Given the description of an element on the screen output the (x, y) to click on. 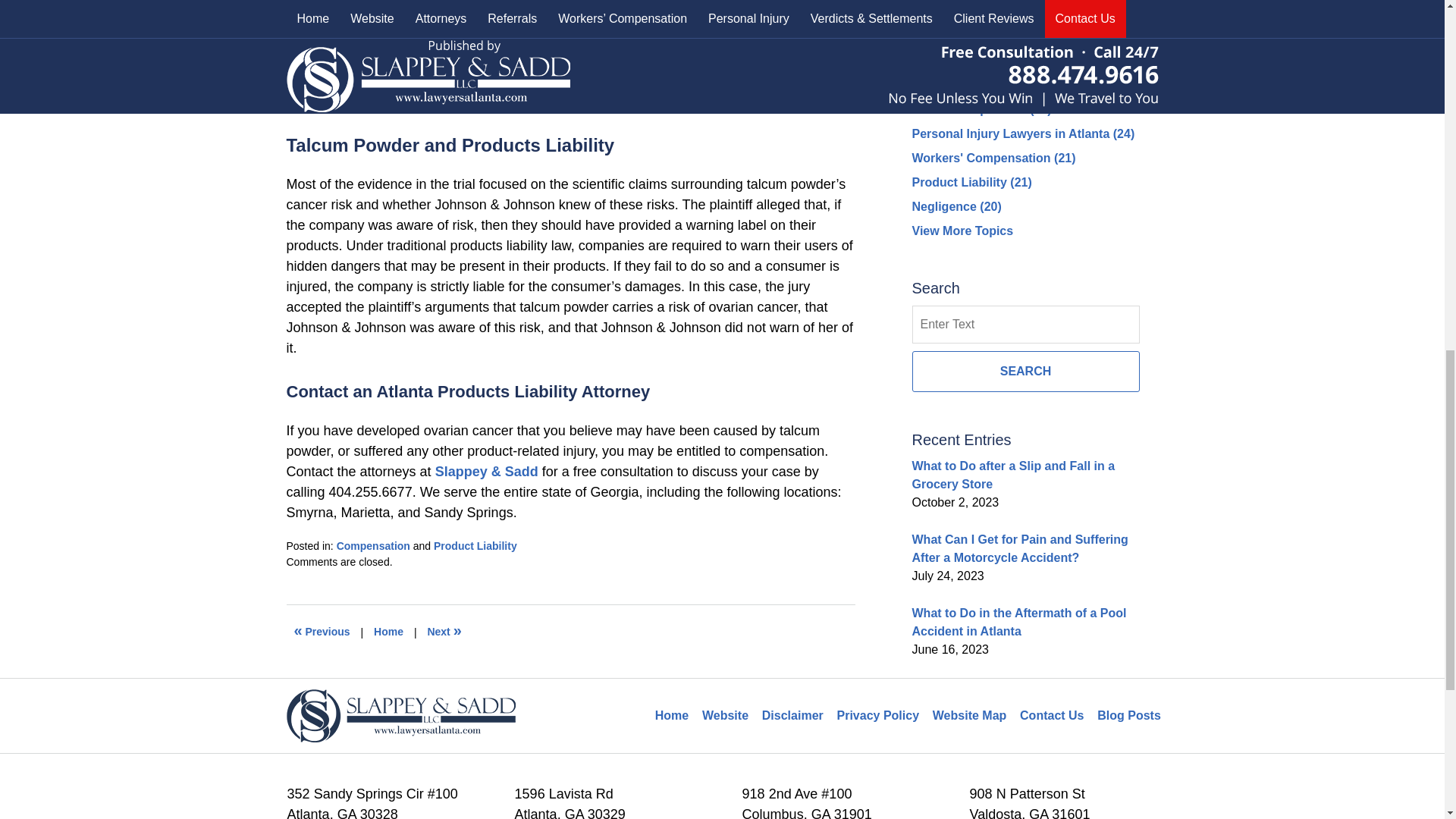
general scientific consensus (407, 38)
Compensation (373, 545)
Should I Use an Auto Insurance Tracking Device? (322, 632)
Home (388, 632)
View all posts in Compensation (373, 545)
Have You Been Injured by a Dangerous Drug? (443, 632)
Product Liability (474, 545)
View all posts in Product Liability (474, 545)
